Given the description of an element on the screen output the (x, y) to click on. 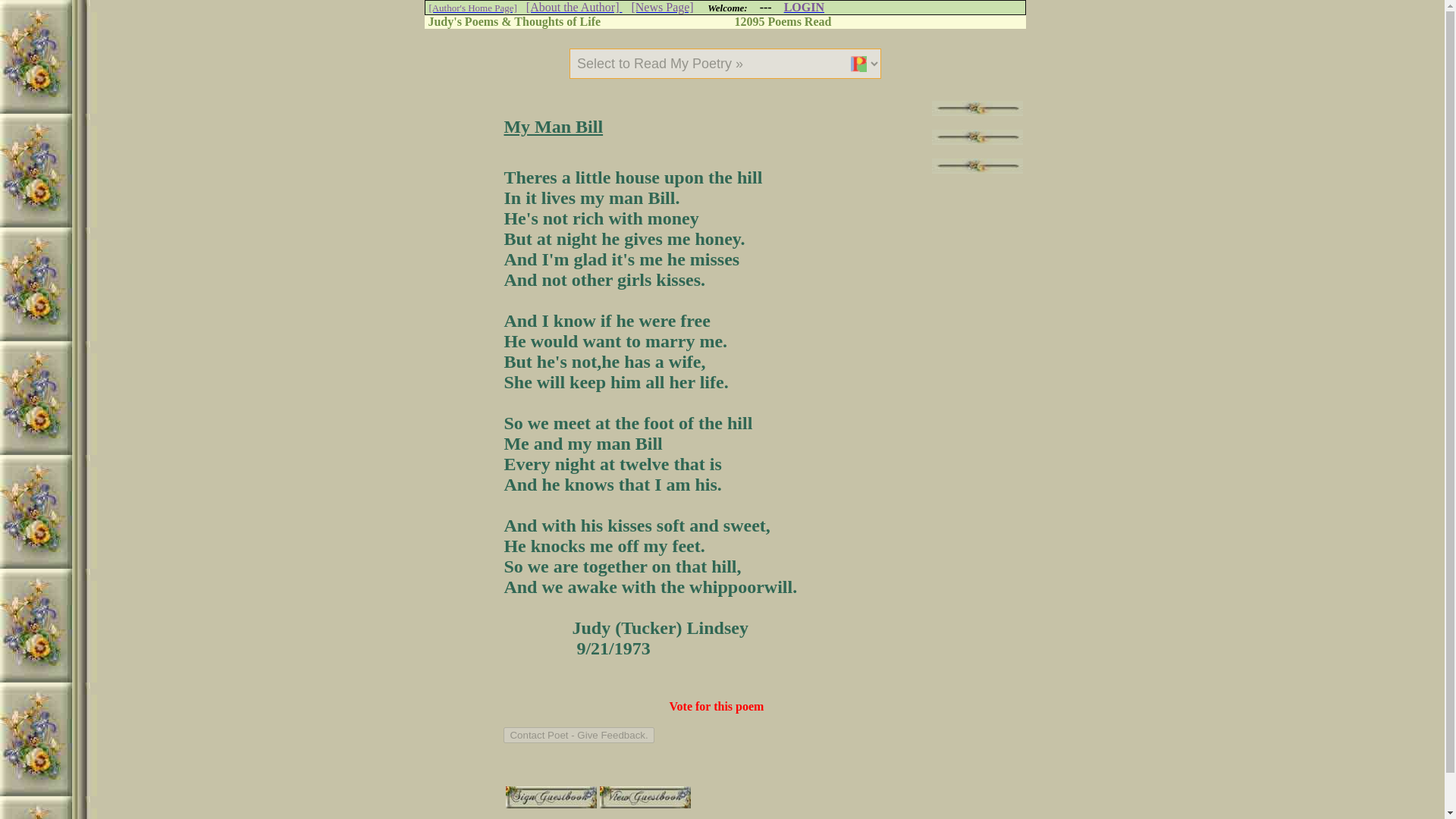
Contact Poet - Give Feedback. (578, 734)
Vote for this poem (716, 706)
LOGIN (804, 6)
